Given the description of an element on the screen output the (x, y) to click on. 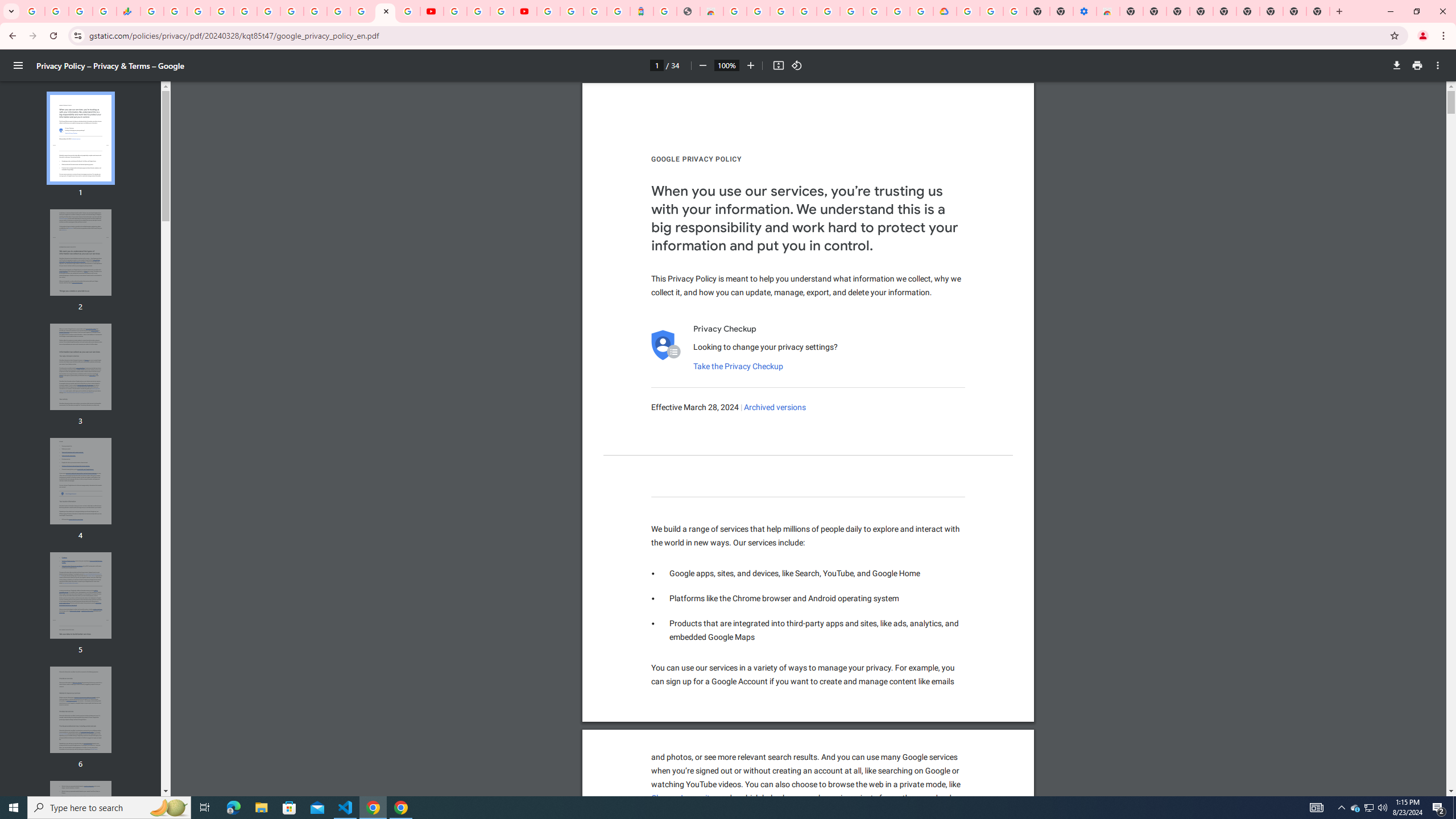
Ad Settings (804, 11)
Chrome Web Store - Accessibility extensions (1108, 11)
